Given the description of an element on the screen output the (x, y) to click on. 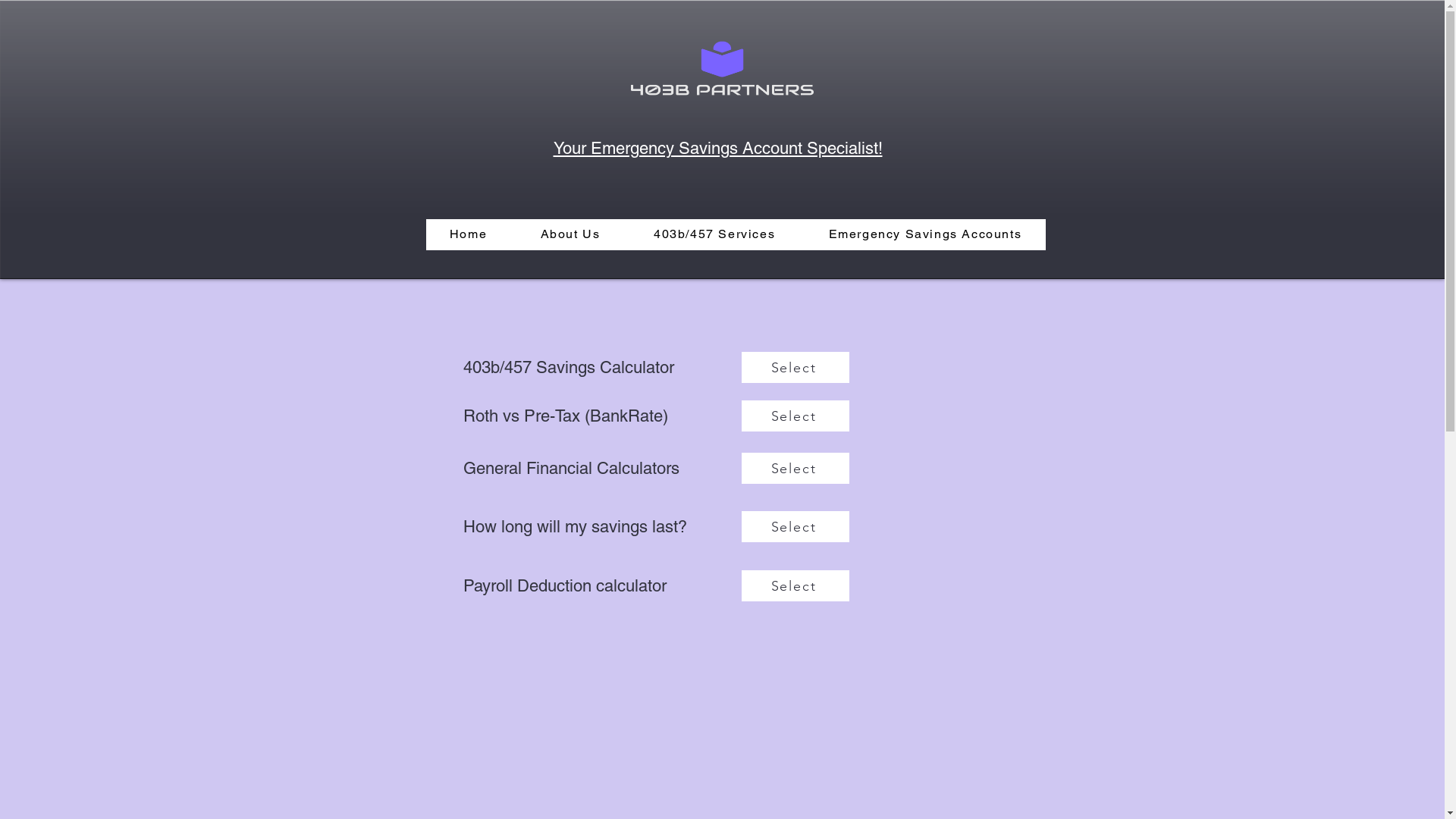
Select Element type: text (795, 467)
Select Element type: text (795, 415)
The best TPA! Element type: hover (721, 68)
Select Element type: text (795, 526)
Select Element type: text (795, 585)
Your Emergency Savings Account Specialist! Element type: text (717, 147)
Select Element type: text (795, 366)
Home Element type: text (468, 234)
